Given the description of an element on the screen output the (x, y) to click on. 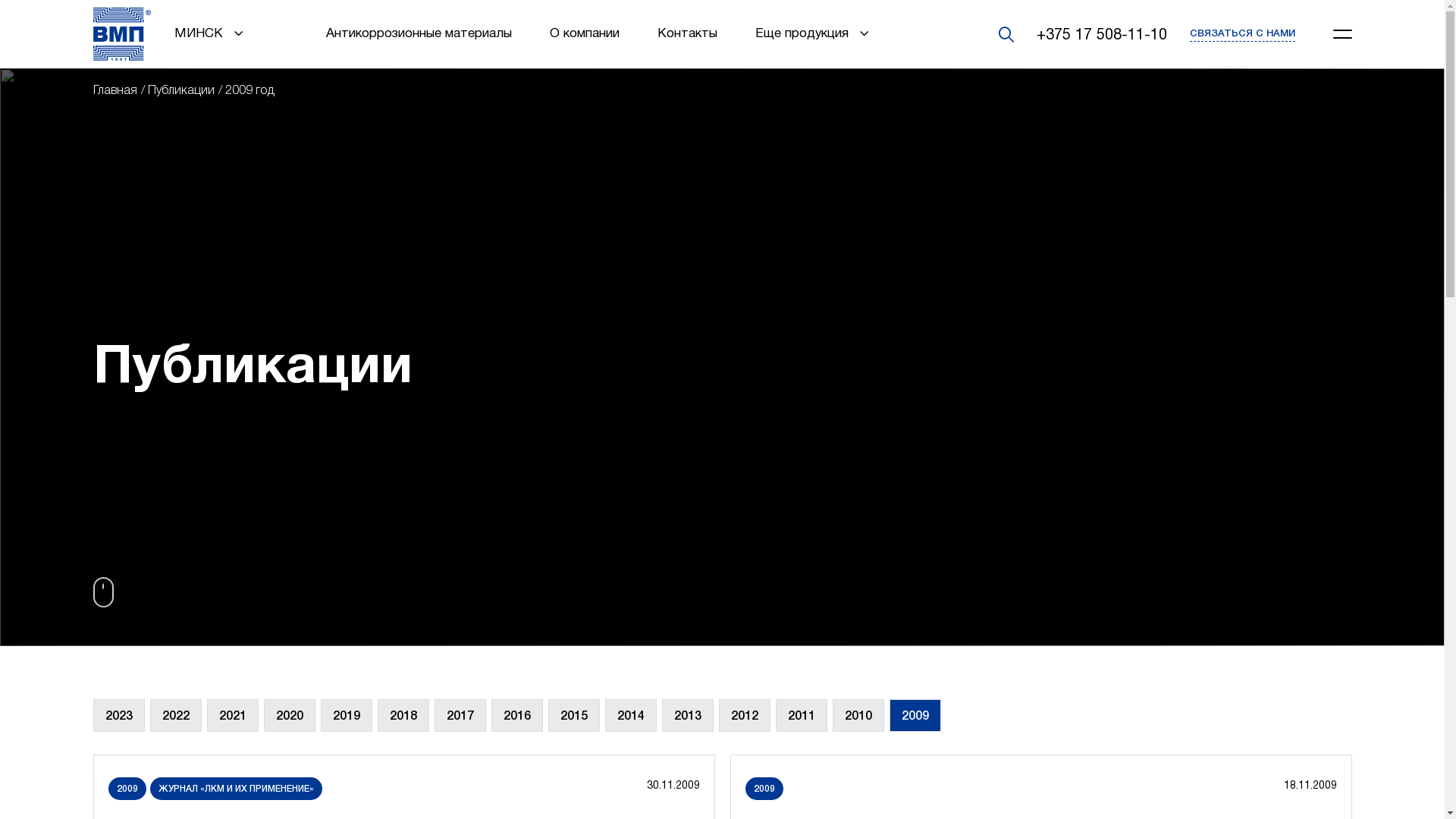
2012 Element type: text (744, 715)
+375 17 508-11-10 Element type: text (1100, 34)
2011 Element type: text (800, 715)
2016 Element type: text (516, 715)
2009 Element type: text (914, 715)
2015 Element type: text (573, 715)
2014 Element type: text (630, 715)
2021 Element type: text (231, 715)
2013 Element type: text (686, 715)
2020 Element type: text (289, 715)
2018 Element type: text (403, 715)
2010 Element type: text (858, 715)
2022 Element type: text (175, 715)
2023 Element type: text (118, 715)
2017 Element type: text (459, 715)
2019 Element type: text (345, 715)
